Given the description of an element on the screen output the (x, y) to click on. 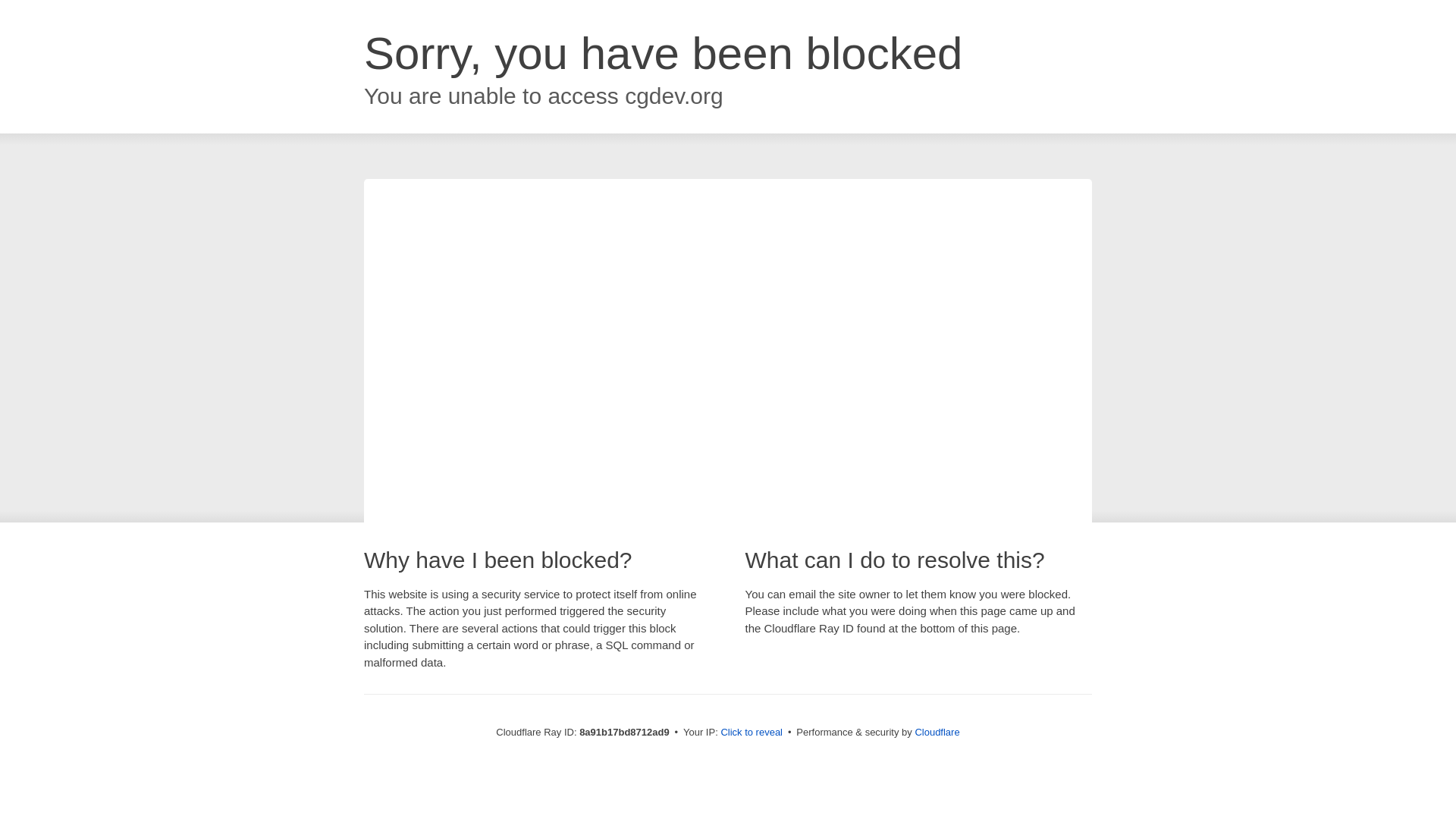
Click to reveal (751, 732)
Cloudflare (936, 731)
